Given the description of an element on the screen output the (x, y) to click on. 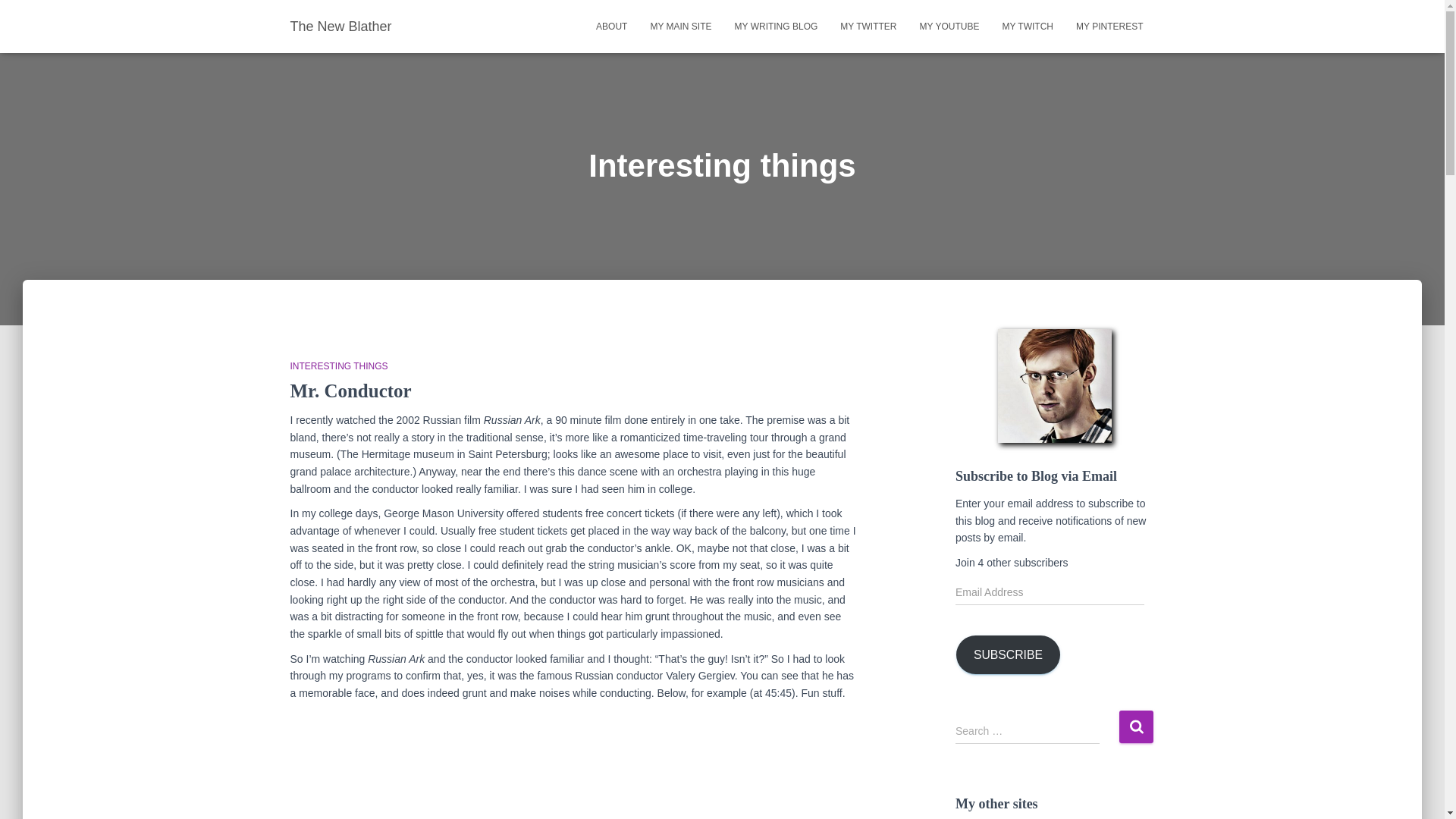
Mr. Conductor (349, 390)
About (612, 26)
MY TWITTER (867, 26)
MY WRITING BLOG (776, 26)
My Twitter (867, 26)
Search (1136, 726)
My Twitch (1027, 26)
ABOUT (612, 26)
SUBSCRIBE (1007, 654)
Search (1136, 726)
